Given the description of an element on the screen output the (x, y) to click on. 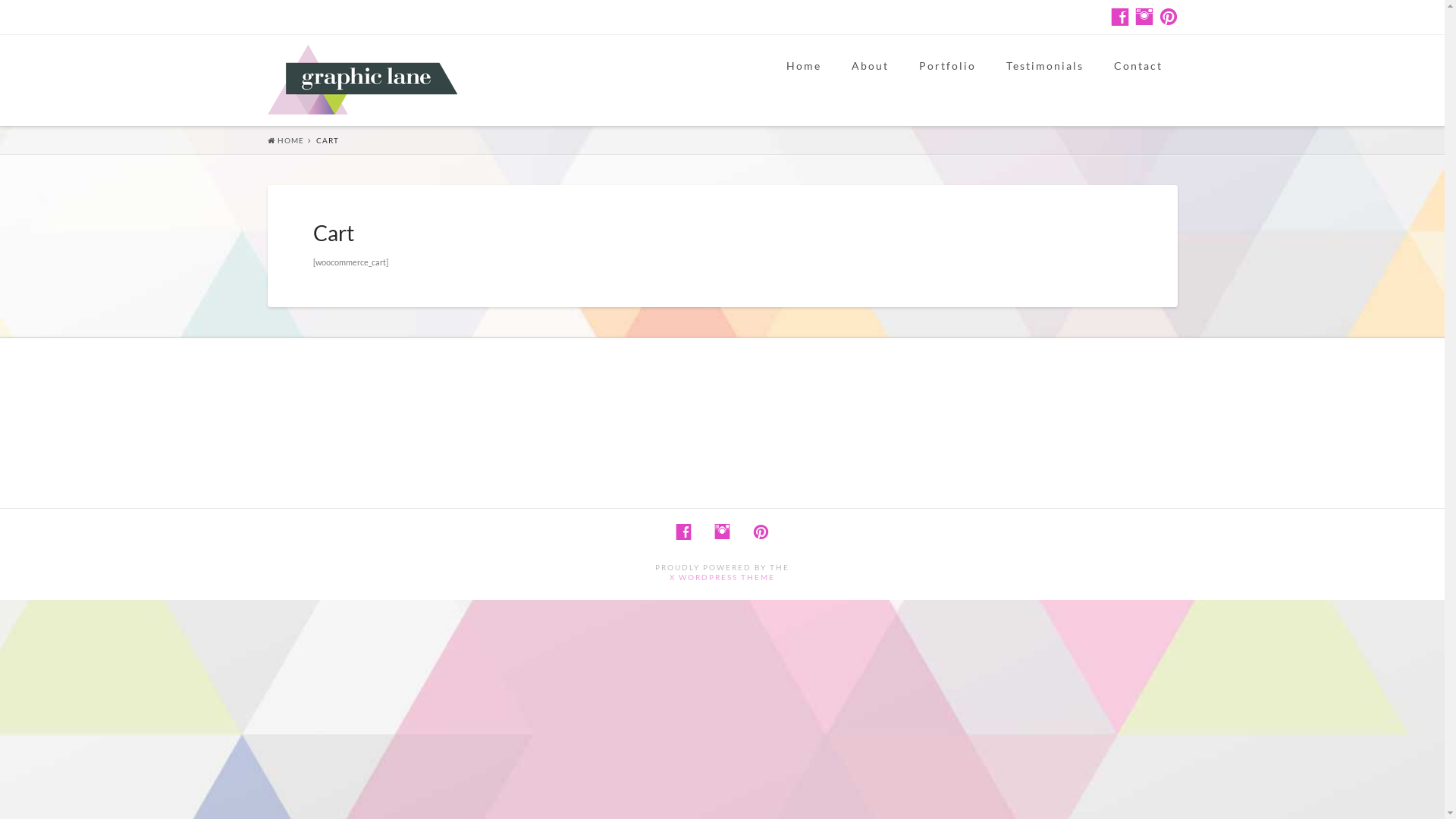
Creative Graphic Design Solutions Element type: hover (361, 79)
Testimonials Element type: text (1044, 79)
HOME Element type: text (284, 139)
About Element type: text (869, 79)
X WORDPRESS THEME Element type: text (722, 576)
Portfolio Element type: text (947, 79)
Home Element type: text (802, 79)
Contact Element type: text (1137, 79)
